Given the description of an element on the screen output the (x, y) to click on. 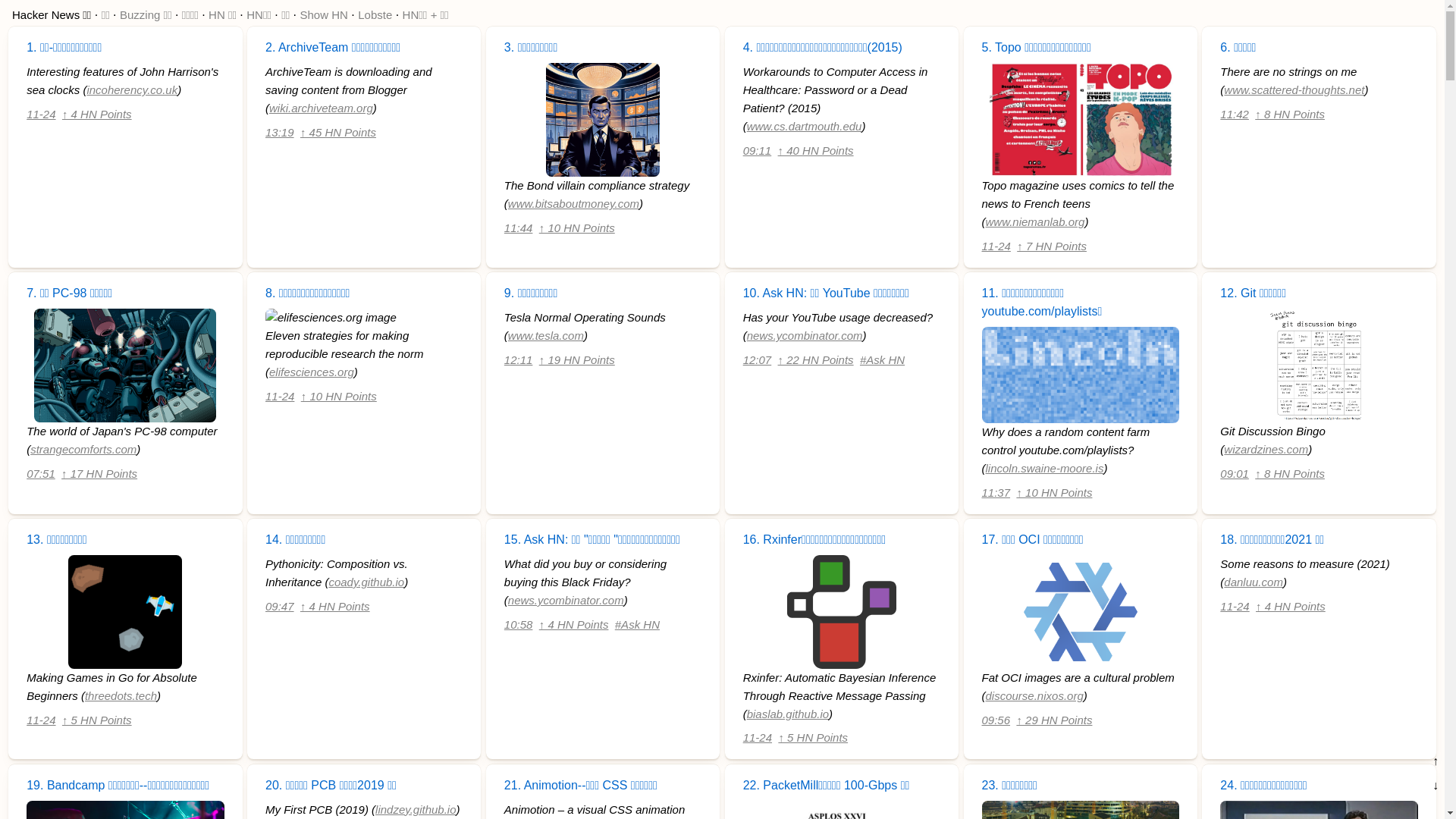
11-24 Element type: text (279, 395)
09:01 Element type: text (1234, 473)
incoherency.co.uk Element type: text (131, 89)
07:51 Element type: text (40, 473)
11-24 Element type: text (757, 737)
Lobste Element type: text (374, 14)
wiki.archiveteam.org Element type: text (321, 107)
news.ycombinator.com Element type: text (804, 335)
news.ycombinator.com Element type: text (566, 599)
elifesciences.org Element type: text (311, 371)
biaslab.github.io Element type: text (787, 713)
threedots.tech Element type: text (120, 695)
12:11 Element type: text (518, 359)
discourse.nixos.org Element type: text (1034, 695)
www.cs.dartmouth.edu Element type: text (804, 125)
09:56 Element type: text (995, 718)
11-24 Element type: text (1234, 605)
09:11 Element type: text (757, 150)
11:42 Element type: text (1234, 113)
wizardzines.com Element type: text (1265, 448)
strangecomforts.com Element type: text (83, 448)
11:37 Element type: text (995, 492)
#Ask HN Element type: text (637, 623)
lincoln.swaine-moore.is Element type: text (1044, 467)
www.tesla.com Element type: text (545, 335)
www.niemanlab.org Element type: text (1035, 221)
coady.github.io Element type: text (366, 581)
11:44 Element type: text (518, 227)
10:58 Element type: text (518, 623)
www.scattered-thoughts.net Element type: text (1293, 89)
danluu.com Element type: text (1253, 581)
11-24 Element type: text (40, 718)
09:47 Element type: text (279, 605)
13:19 Element type: text (279, 131)
Show HN Element type: text (324, 14)
12:07 Element type: text (757, 359)
#Ask HN Element type: text (881, 359)
11-24 Element type: text (995, 245)
www.bitsaboutmoney.com Element type: text (573, 203)
11-24 Element type: text (40, 113)
lindzey.github.io Element type: text (415, 809)
